Given the description of an element on the screen output the (x, y) to click on. 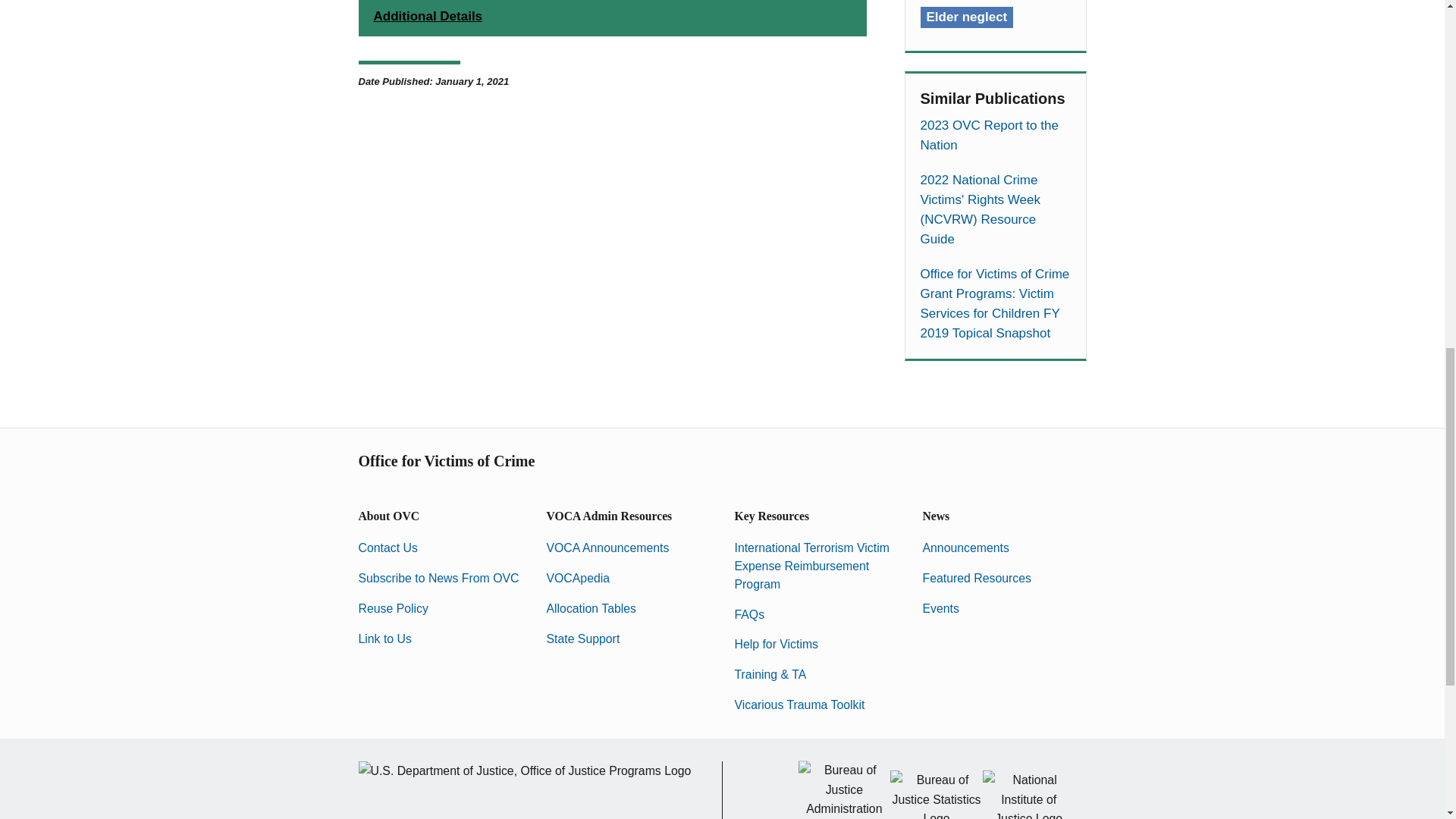
2023 OVC Report to the Nation (995, 135)
Additional Details (612, 18)
Elder neglect (966, 16)
2023 OVC Report to the Nation (995, 135)
